Given the description of an element on the screen output the (x, y) to click on. 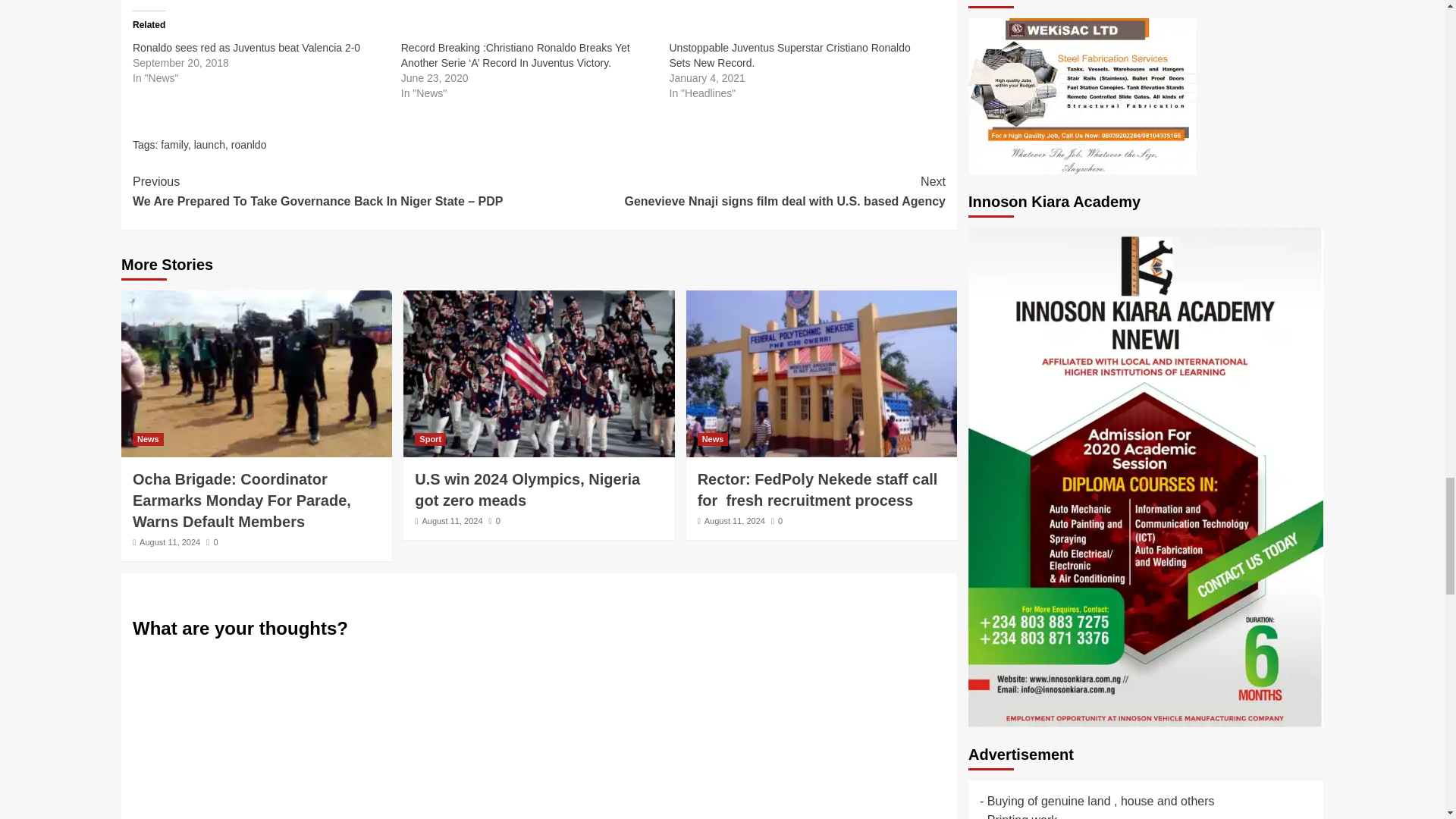
Ronaldo sees red as Juventus beat Valencia 2-0 (245, 47)
